Given the description of an element on the screen output the (x, y) to click on. 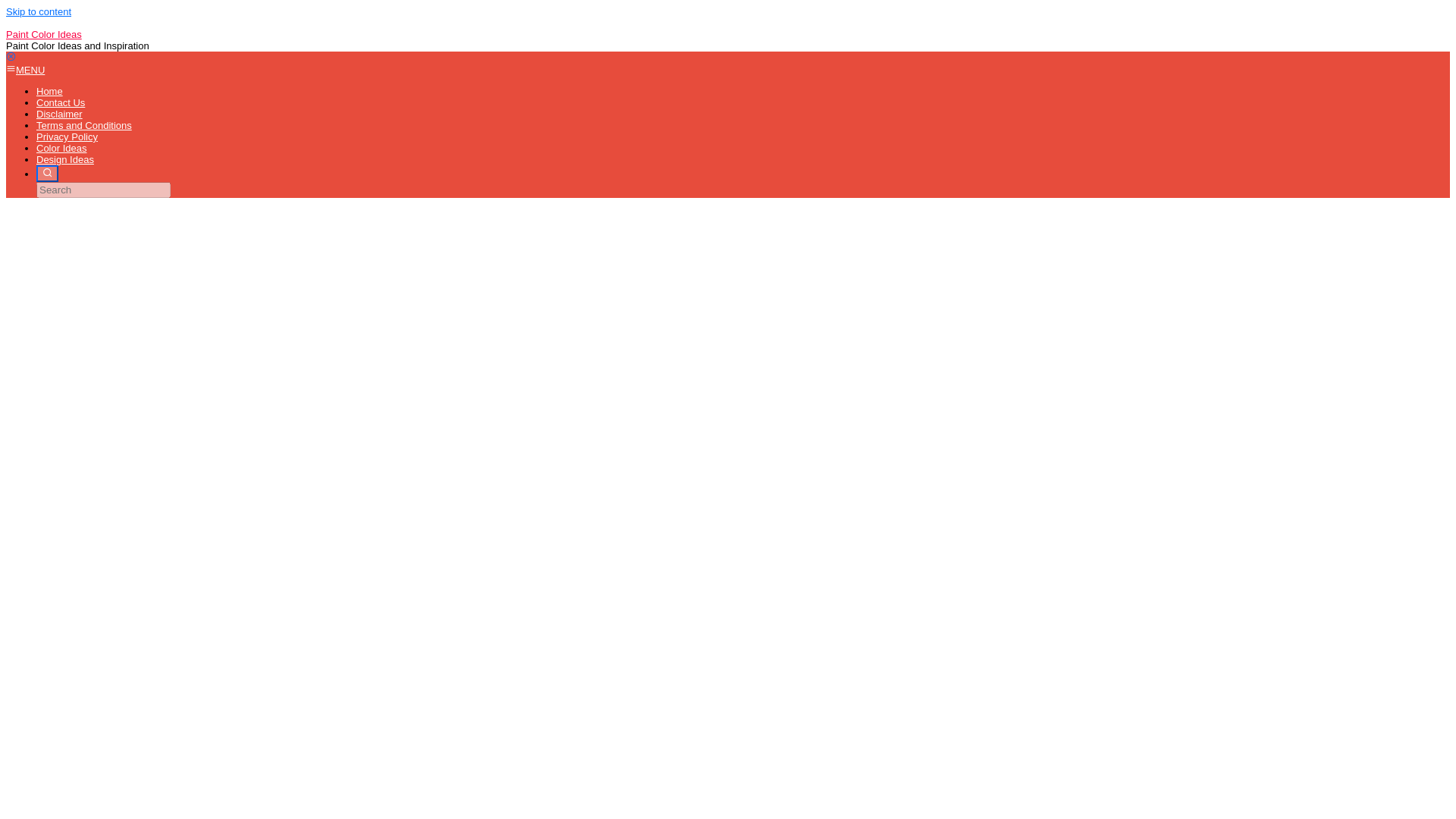
Paint Color Ideas (43, 34)
Terms and Conditions (84, 125)
Disclaimer (59, 113)
Privacy Policy (66, 136)
Paint Color Ideas (43, 34)
MENU (25, 70)
Contact Us (60, 102)
Search (47, 173)
Skip to content (38, 11)
Color Ideas (60, 147)
Home (49, 91)
Design Ideas (65, 159)
